Given the description of an element on the screen output the (x, y) to click on. 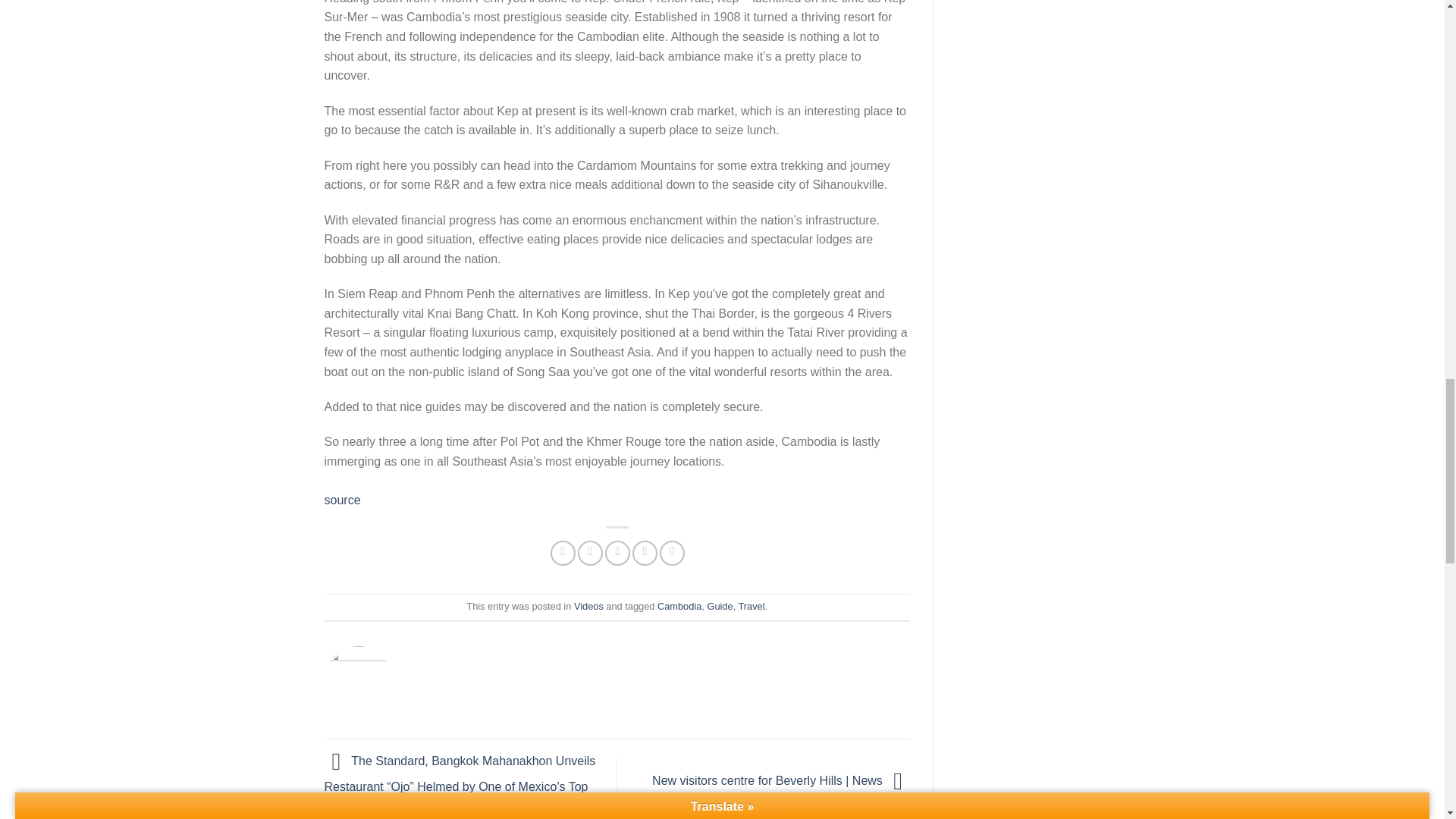
Videos (588, 605)
Share on LinkedIn (671, 552)
source (342, 499)
Email to a Friend (617, 552)
Travel (751, 605)
Pin on Pinterest (644, 552)
Share on Twitter (590, 552)
Cambodia (679, 605)
Guide (719, 605)
Share on Facebook (562, 552)
